Given the description of an element on the screen output the (x, y) to click on. 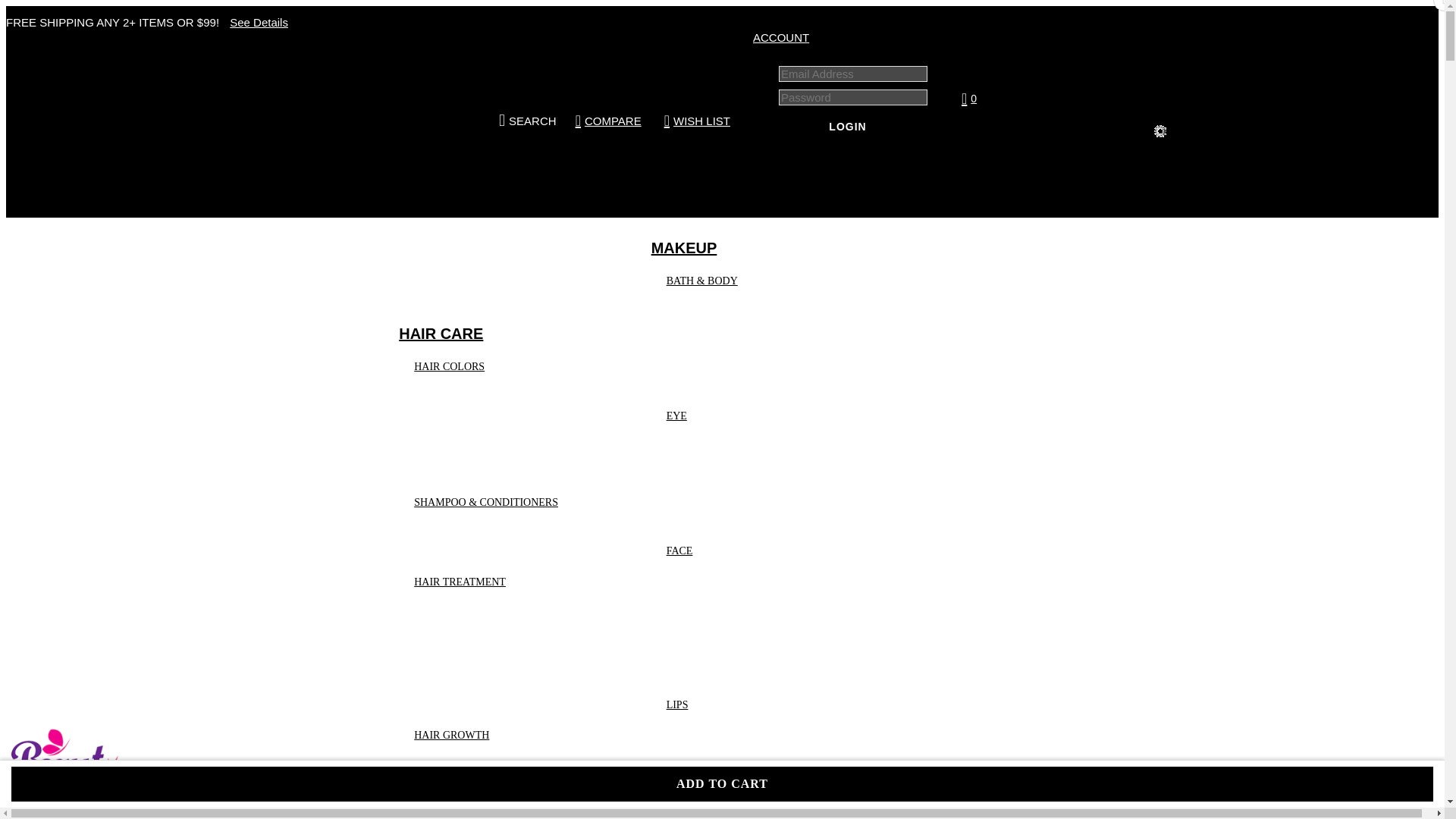
PERMANENT (483, 444)
GROWTH CONDITIONER (511, 803)
Forgot your password ? (847, 162)
SHAMPOO (476, 551)
COMPARE (610, 120)
WISH LIST (698, 120)
HAIR CARE (440, 333)
CONDITIONER (487, 551)
HAIR COLORS (454, 366)
0 (1063, 98)
GROWTH SHAMPOO (501, 803)
LOGIN (847, 125)
SEMI PERMANENT (497, 444)
HAIR GREASE (485, 668)
See Details (255, 21)
